Given the description of an element on the screen output the (x, y) to click on. 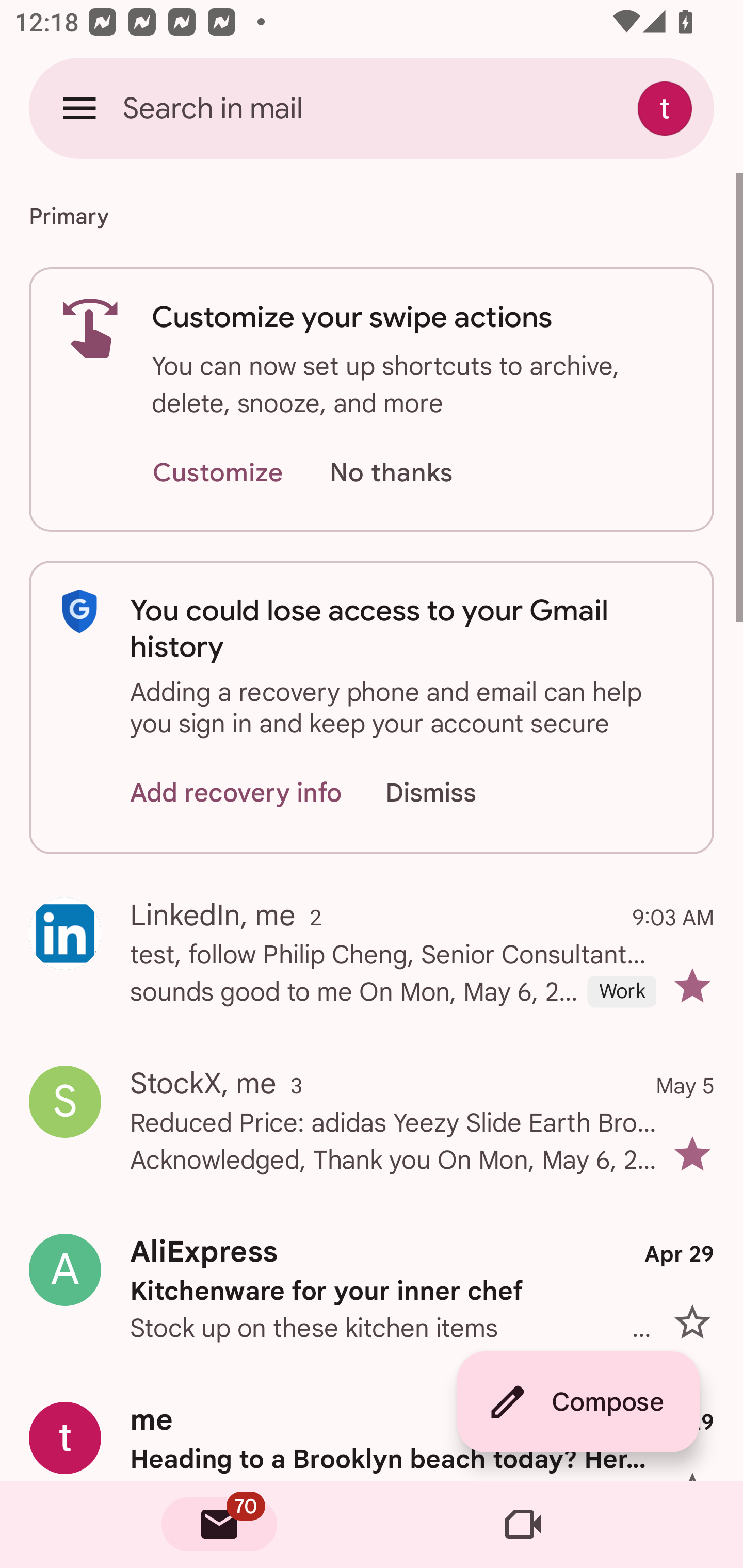
Open navigation drawer (79, 108)
Customize (217, 473)
No thanks (390, 473)
Add recovery info (235, 792)
Dismiss (449, 792)
Compose (577, 1401)
Meet (523, 1524)
